Given the description of an element on the screen output the (x, y) to click on. 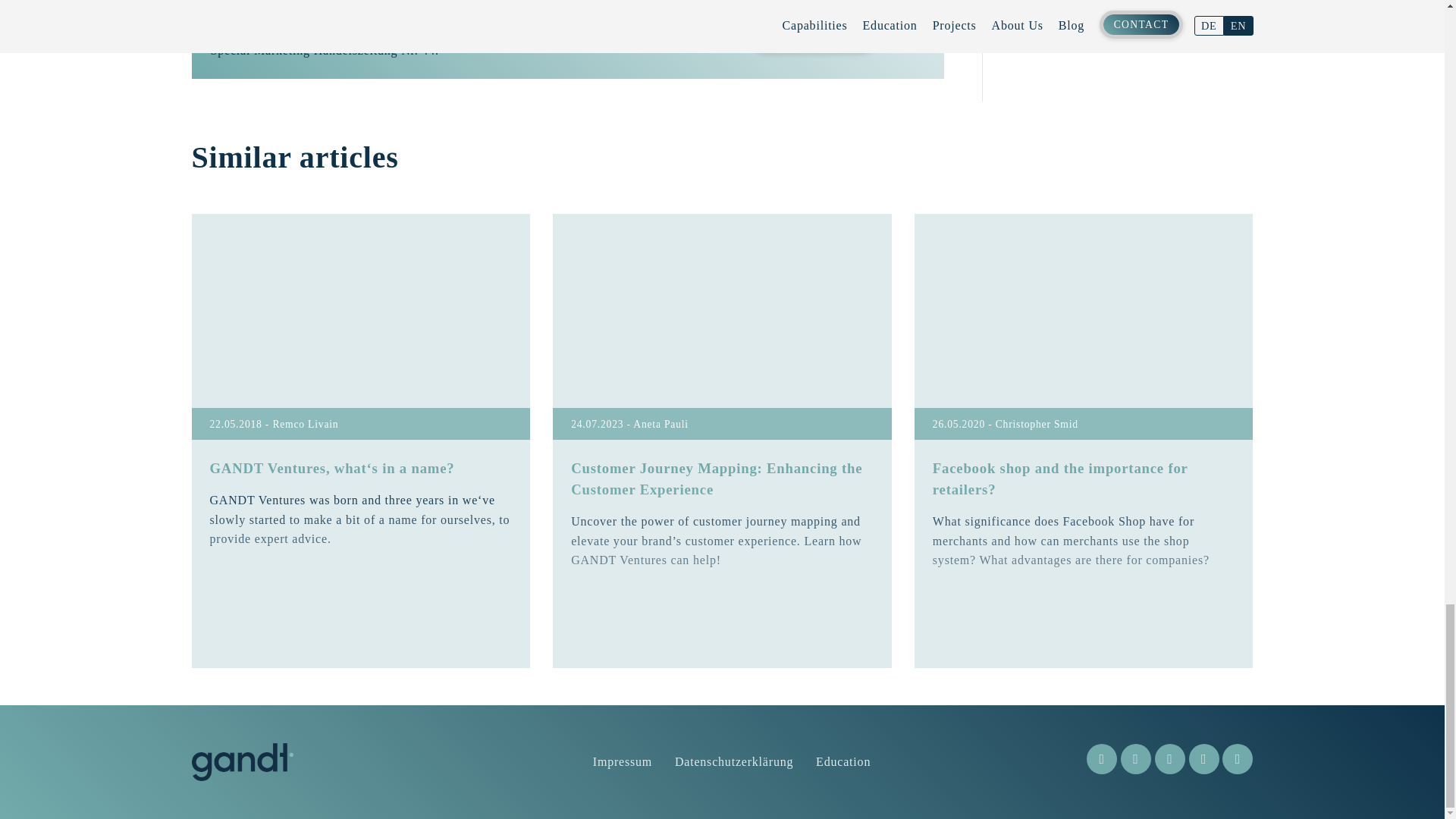
DOWNLOAD (813, 26)
